Given the description of an element on the screen output the (x, y) to click on. 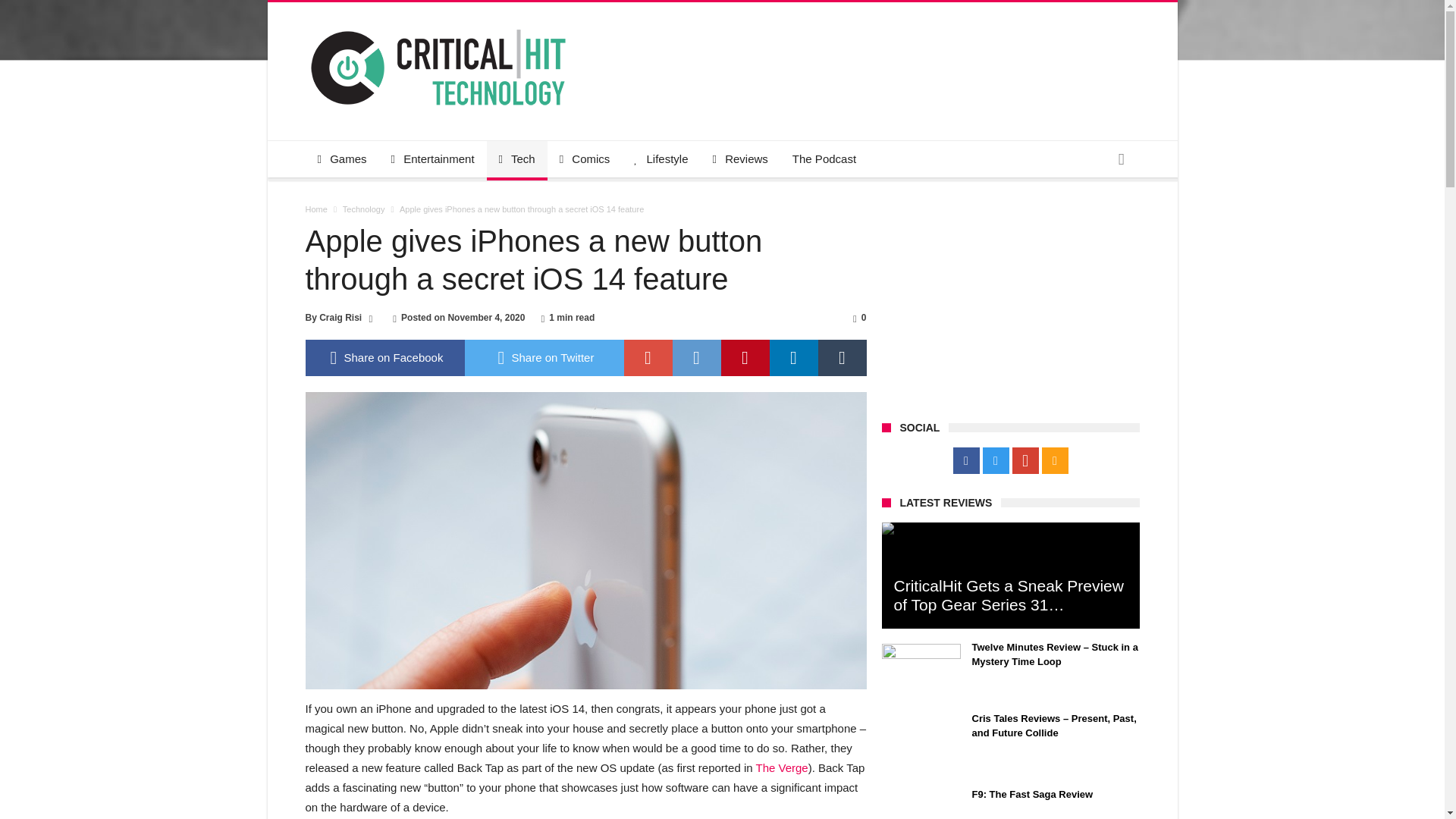
Tech (516, 158)
Craig Risi (339, 317)
Comics (585, 158)
google (647, 357)
Entertainment (432, 158)
Games (341, 158)
facebook (384, 357)
Share on Facebook (384, 357)
reddit (695, 357)
The Podcast (823, 158)
